Given the description of an element on the screen output the (x, y) to click on. 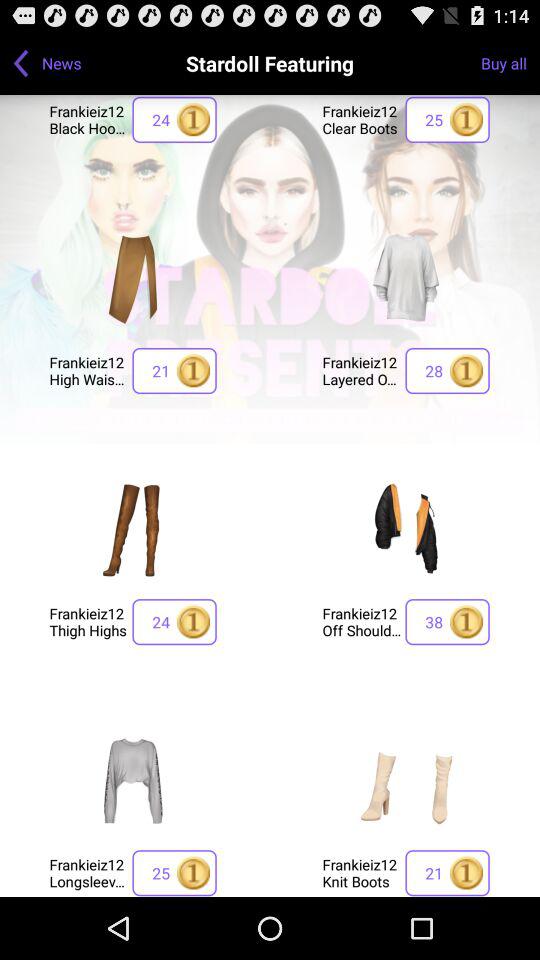
click app to the right of the frankieiz12 off shoulder icon (447, 621)
